Given the description of an element on the screen output the (x, y) to click on. 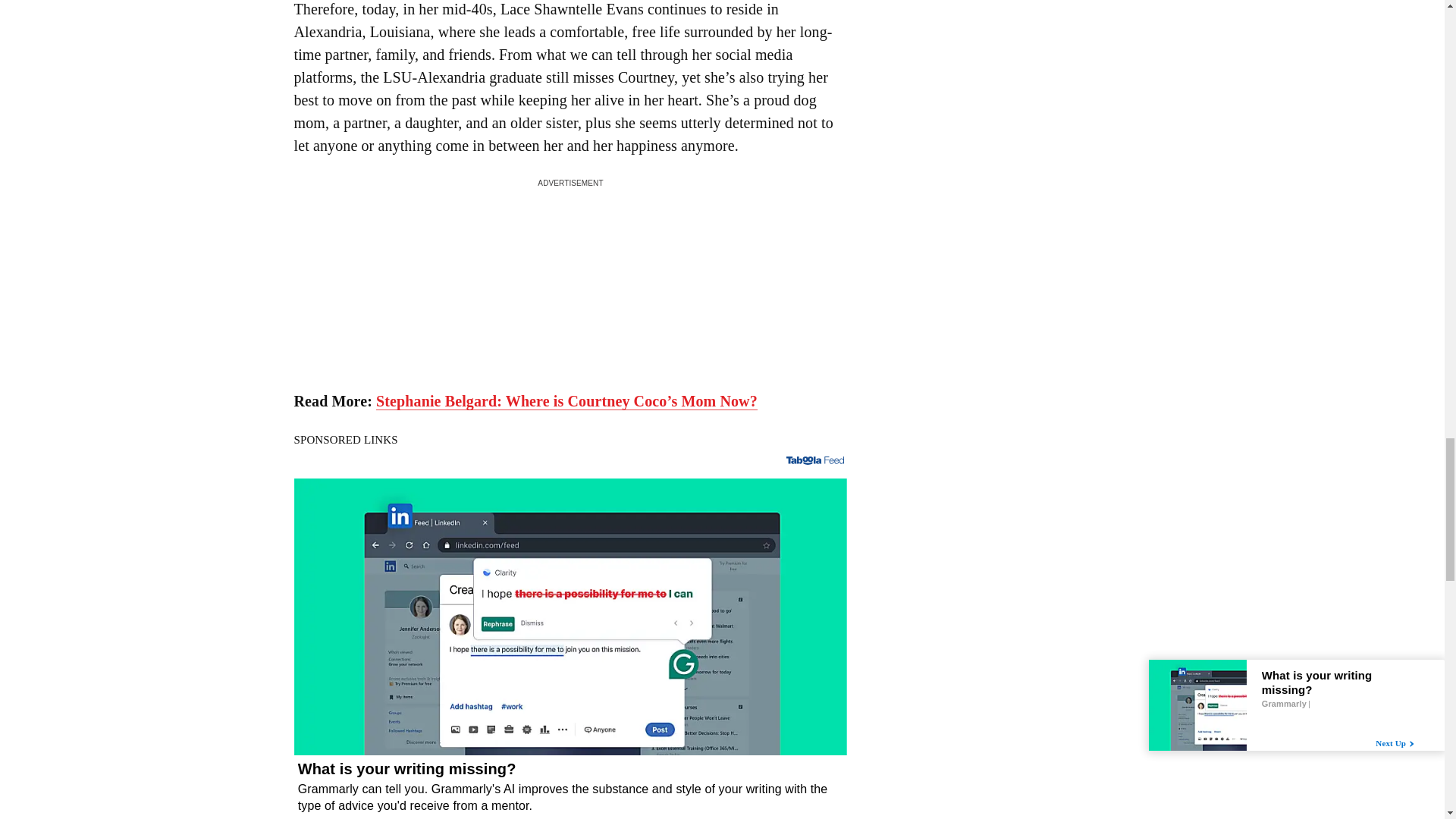
What is your writing missing? (570, 789)
